Given the description of an element on the screen output the (x, y) to click on. 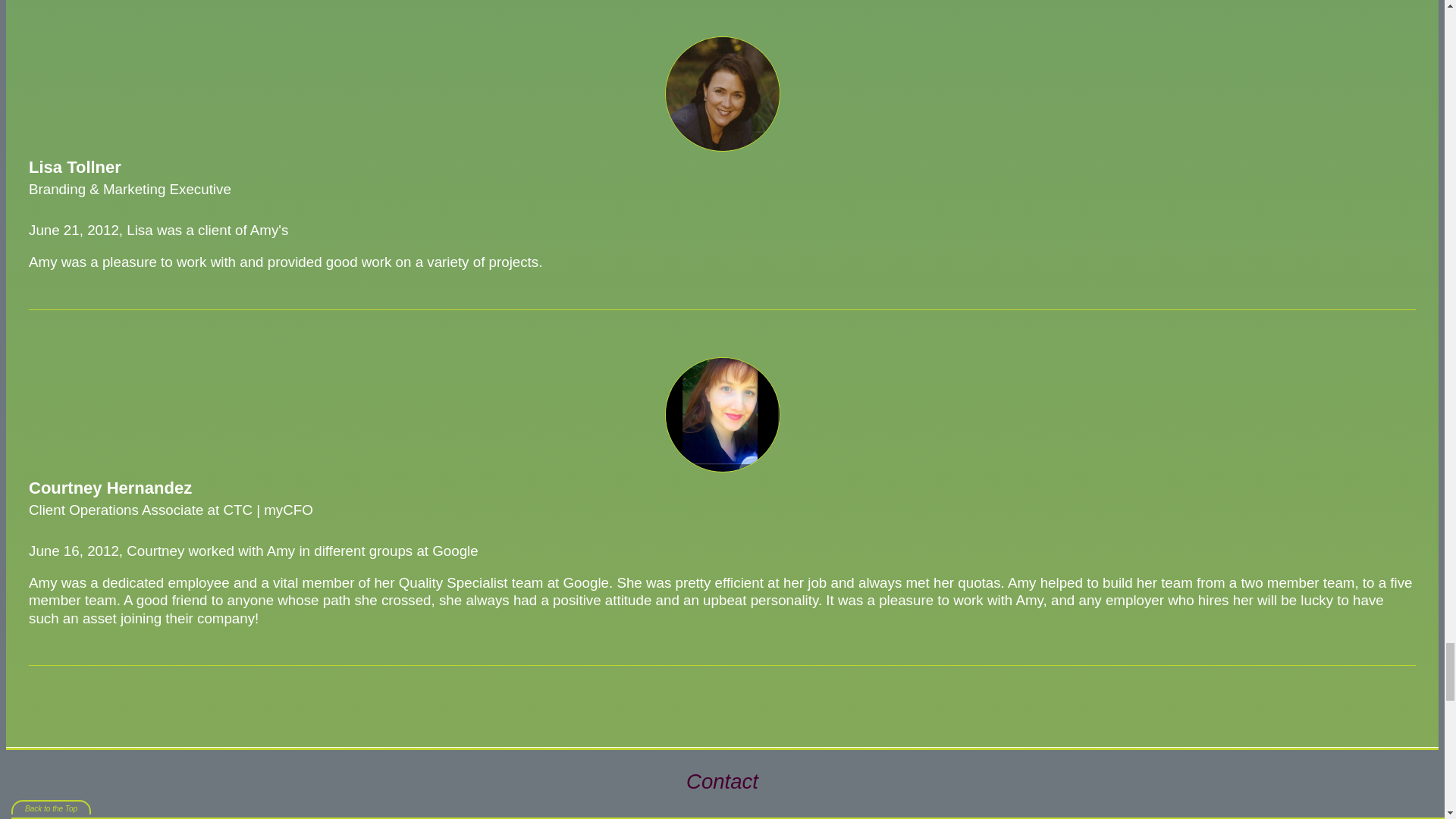
Lisa Tollner (720, 93)
Courtney Hernandez (720, 414)
